Given the description of an element on the screen output the (x, y) to click on. 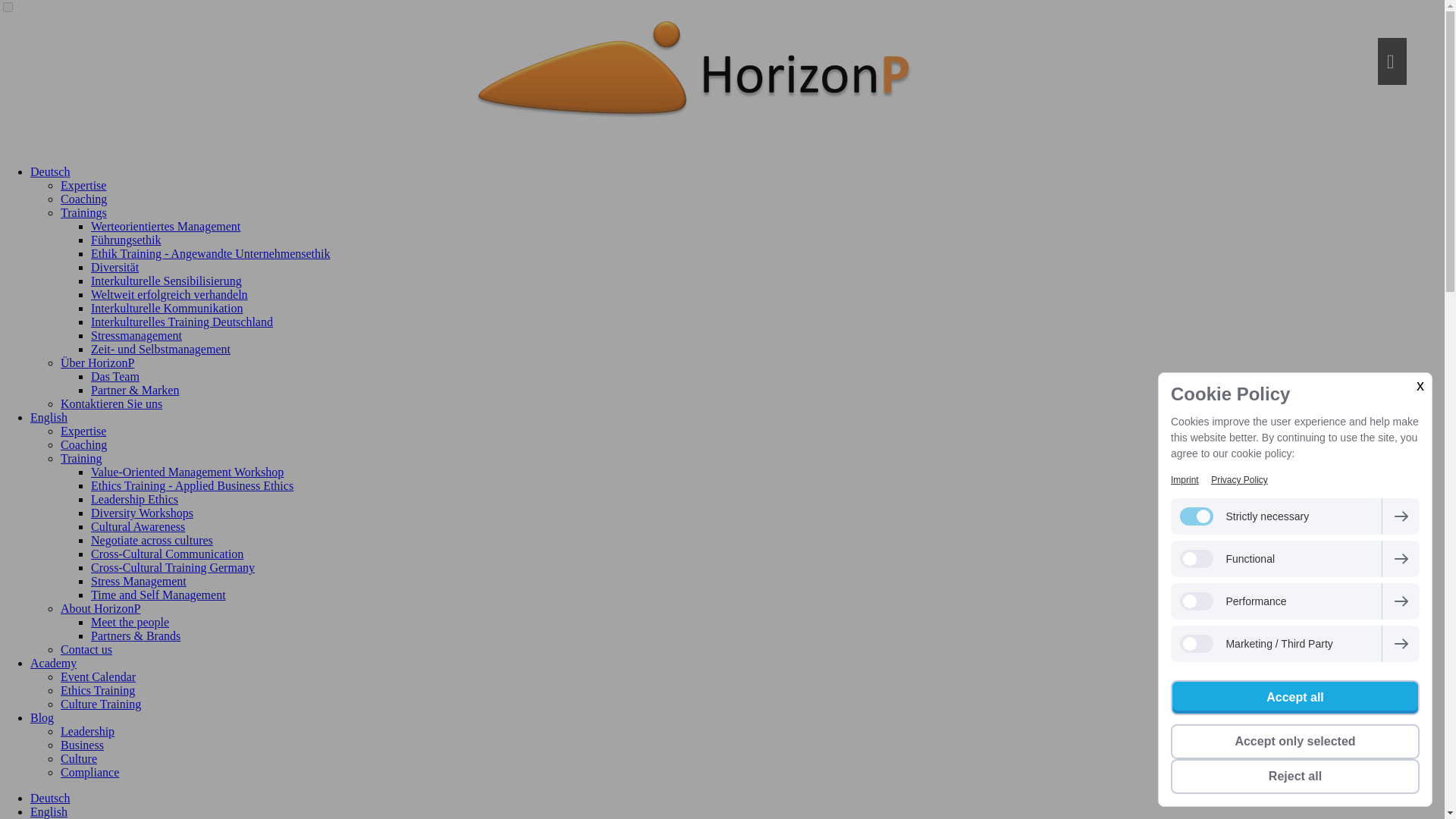
on (7, 7)
Trainings (83, 212)
Event Calendar (98, 676)
English (48, 417)
Zeit- und Selbstmanagement (160, 349)
Negotiate across cultures (151, 540)
Coaching (83, 444)
Weltweit erfolgreich verhandeln (168, 294)
Value-Oriented Management Workshop (186, 472)
Cross-Cultural Communication (166, 553)
Time and Self Management (157, 594)
Cross-Cultural Training Germany (172, 567)
Diversity Workshops (141, 512)
Meet the people (129, 621)
Stress Management (138, 581)
